Given the description of an element on the screen output the (x, y) to click on. 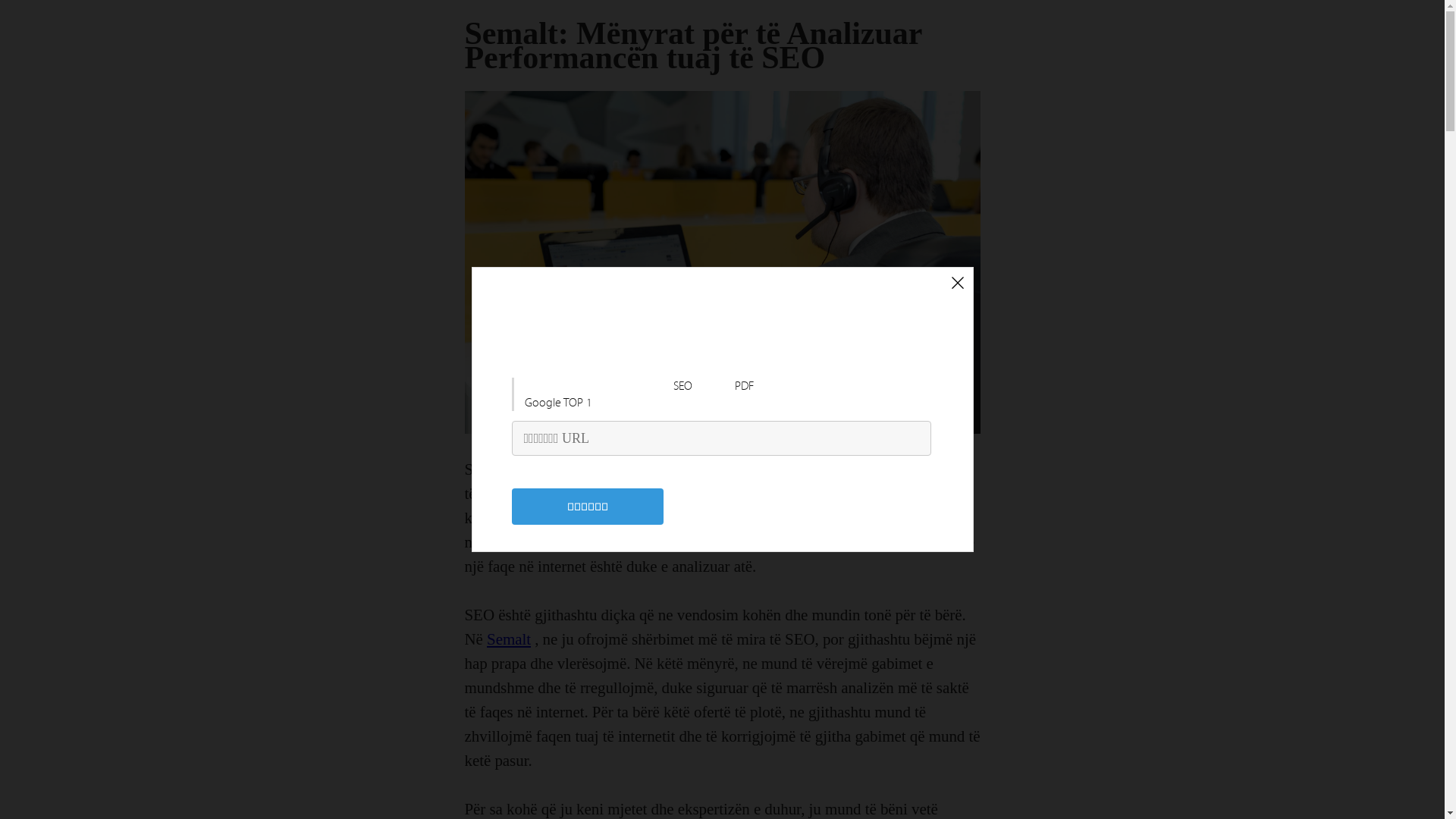
Semalt Element type: text (508, 639)
